Given the description of an element on the screen output the (x, y) to click on. 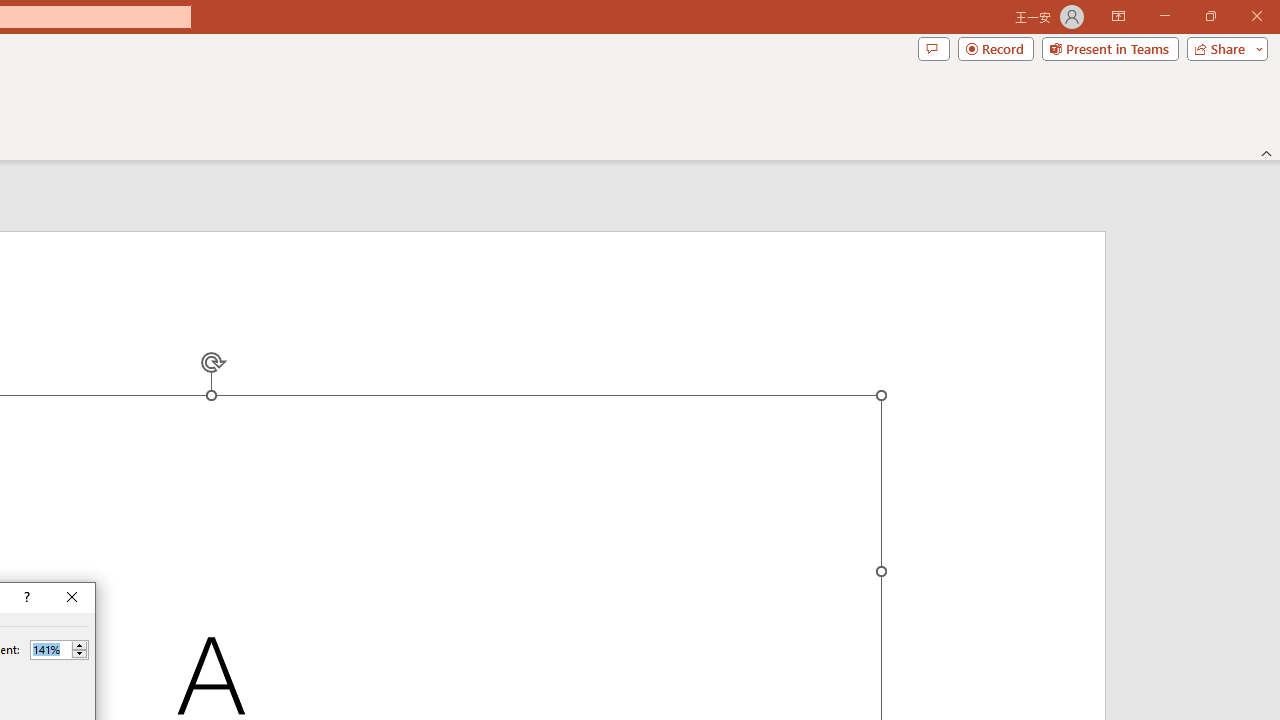
Percent (50, 649)
Percent (59, 650)
